Given the description of an element on the screen output the (x, y) to click on. 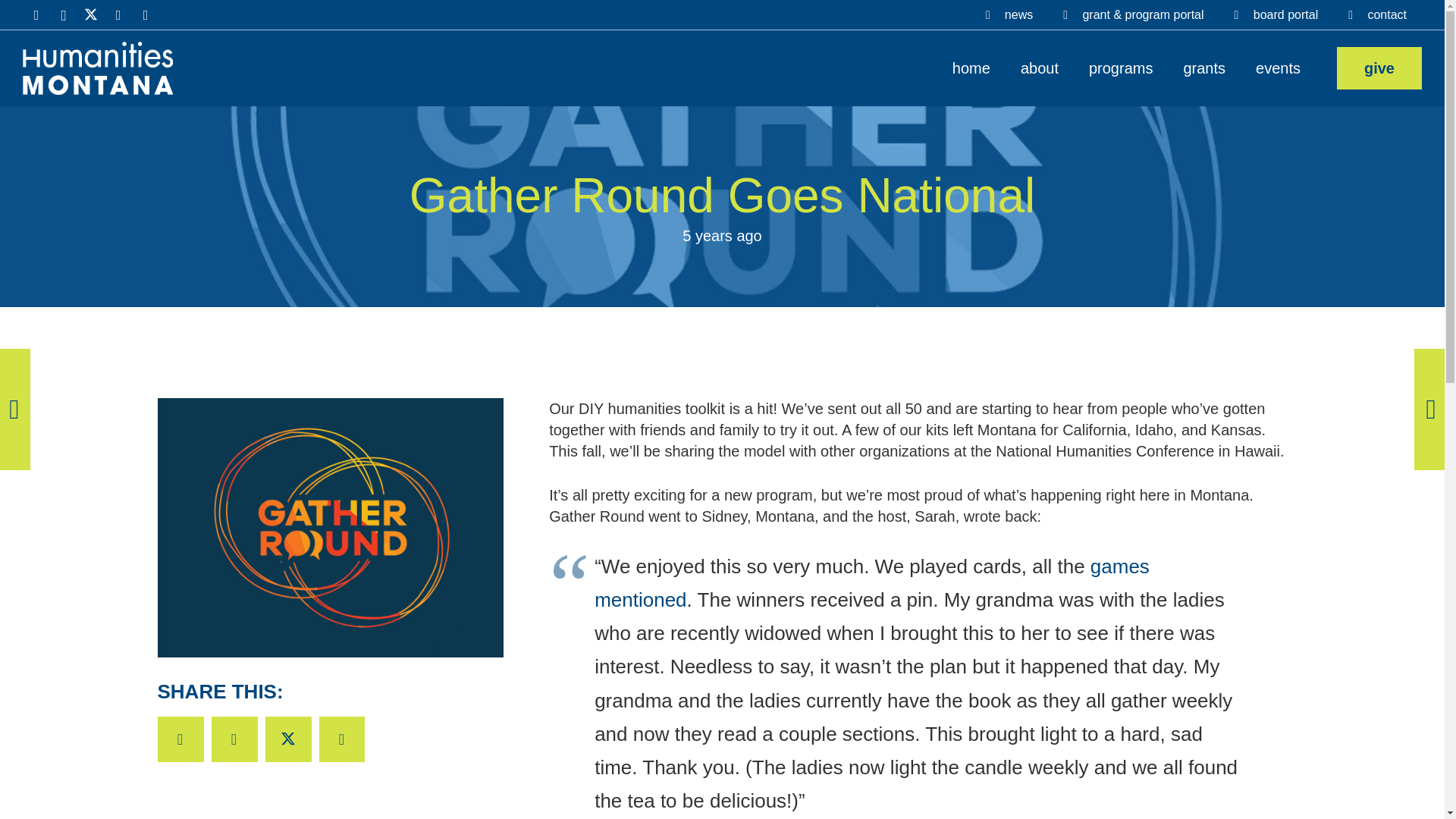
Facebook (36, 14)
YouTube (118, 14)
contact (1377, 15)
Share this (234, 739)
Email this (180, 739)
Share this (341, 739)
news (1009, 15)
about (1040, 68)
grants (1203, 68)
give (1379, 67)
Tweet this (287, 739)
events (1278, 68)
Instagram (63, 14)
Twitter (90, 14)
board portal (1276, 15)
